Given the description of an element on the screen output the (x, y) to click on. 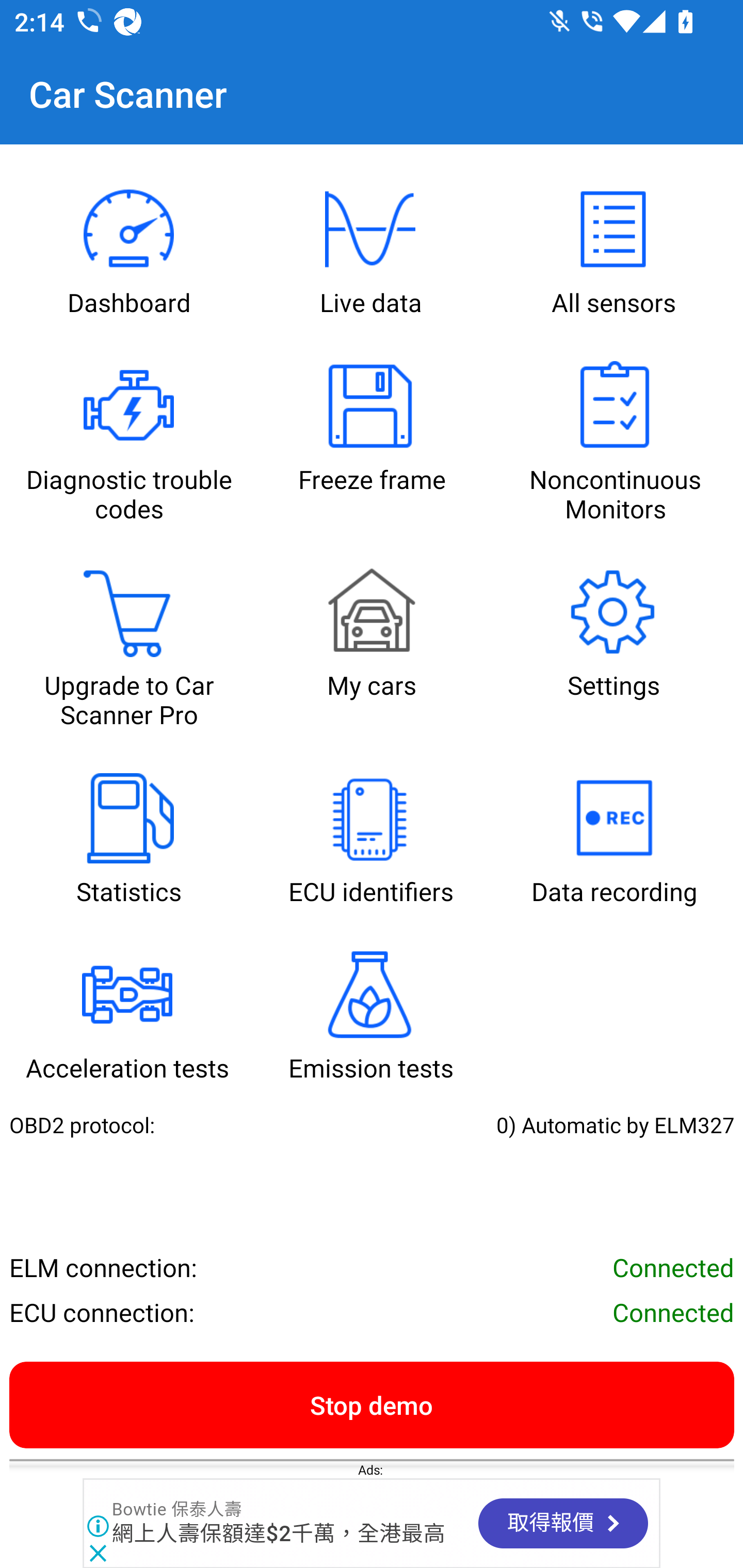
Stop demo (371, 1404)
取得報價 (563, 1523)
Bowtie 保泰人壽 (176, 1510)
網上人壽保額達$2千萬，全港最高 (279, 1534)
